Given the description of an element on the screen output the (x, y) to click on. 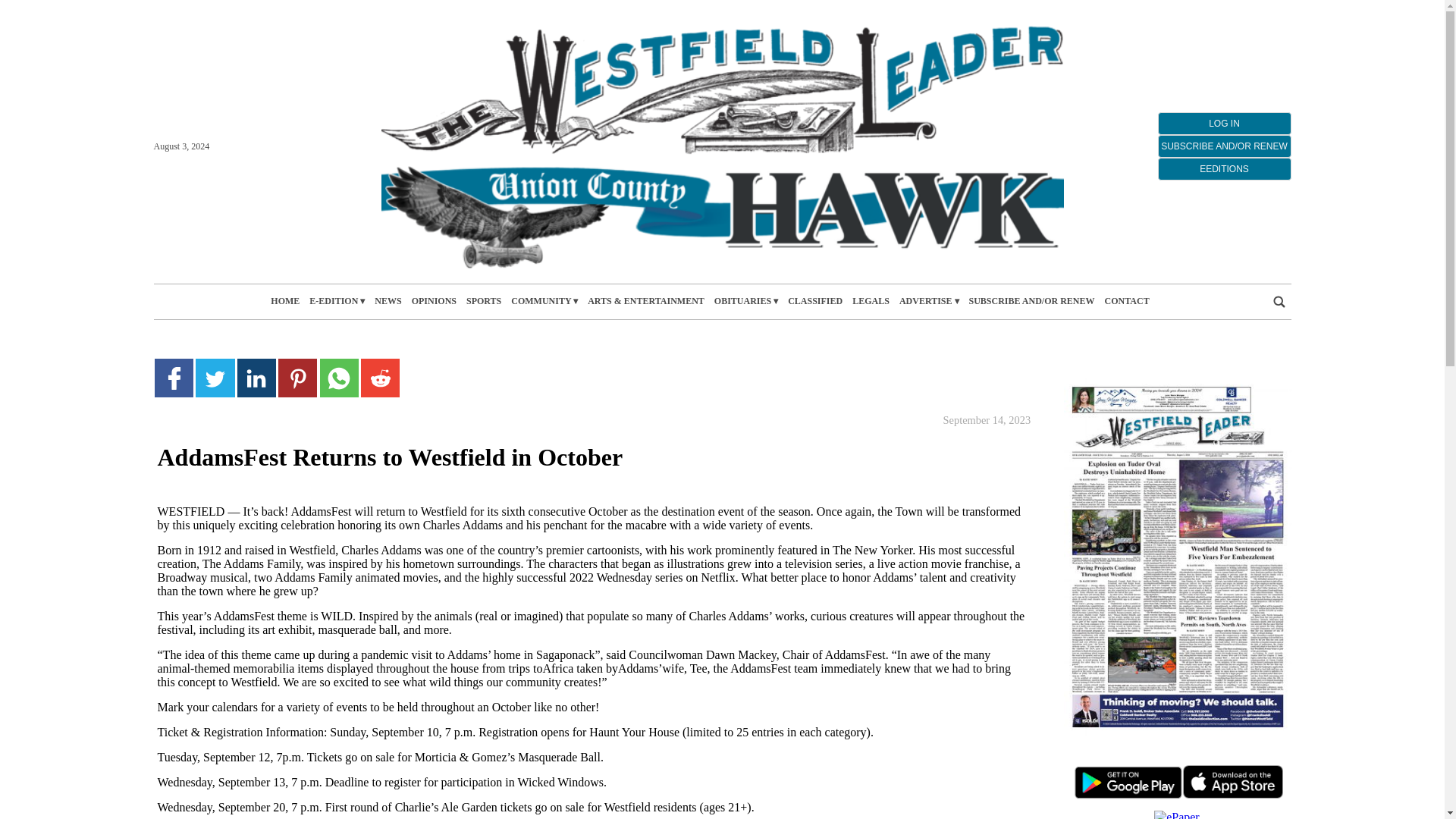
HOME (285, 301)
E-EDITION (336, 301)
NEWS (387, 301)
ePaper (1176, 814)
EEDITIONS (1223, 169)
LOG IN (1223, 123)
